Given the description of an element on the screen output the (x, y) to click on. 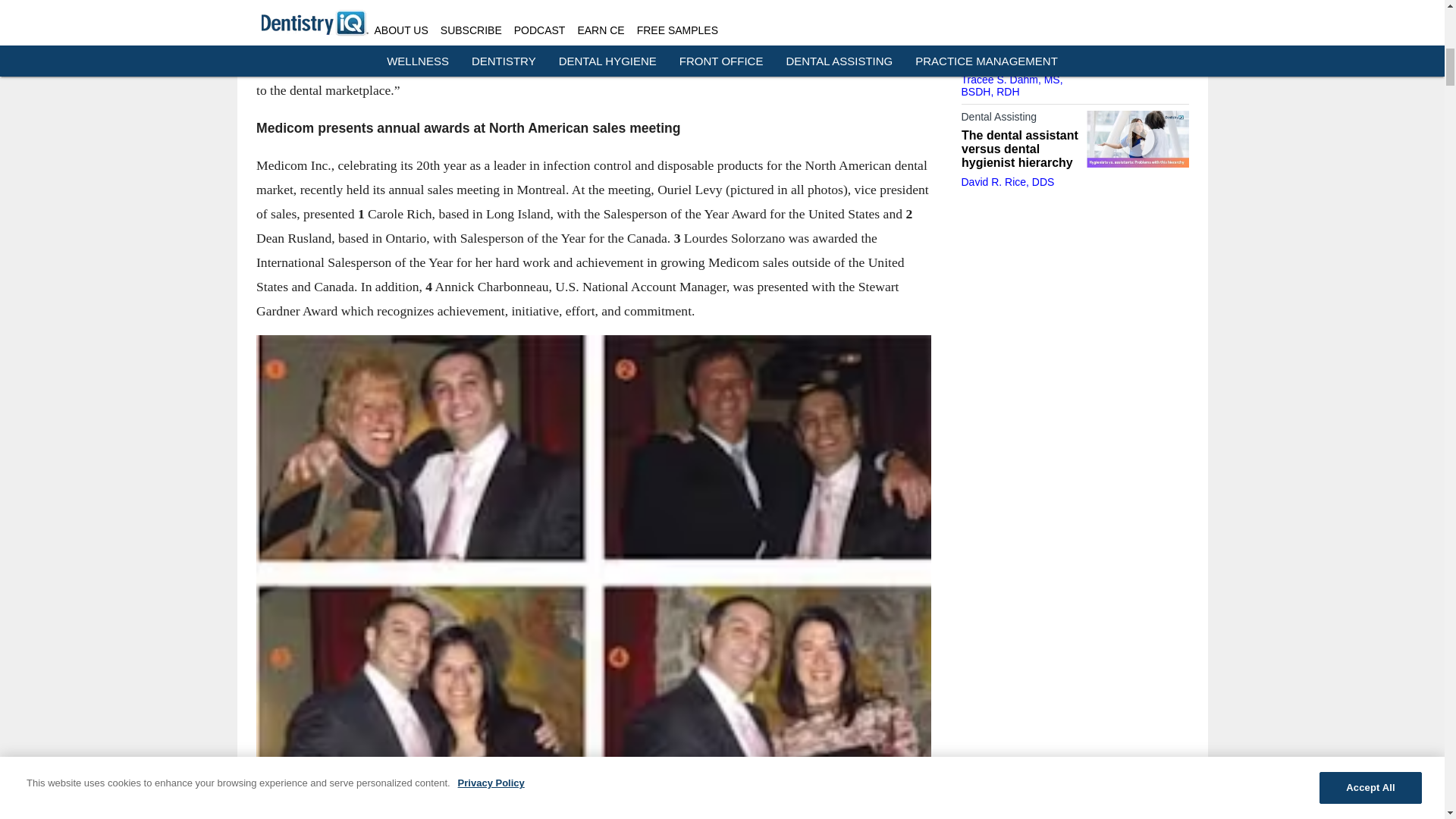
Tracee S. Dahm, MS, BSDH, RDH (1011, 85)
The clinical benefits of periodontal desiccation (1019, 46)
Periodontology (1019, 17)
